Given the description of an element on the screen output the (x, y) to click on. 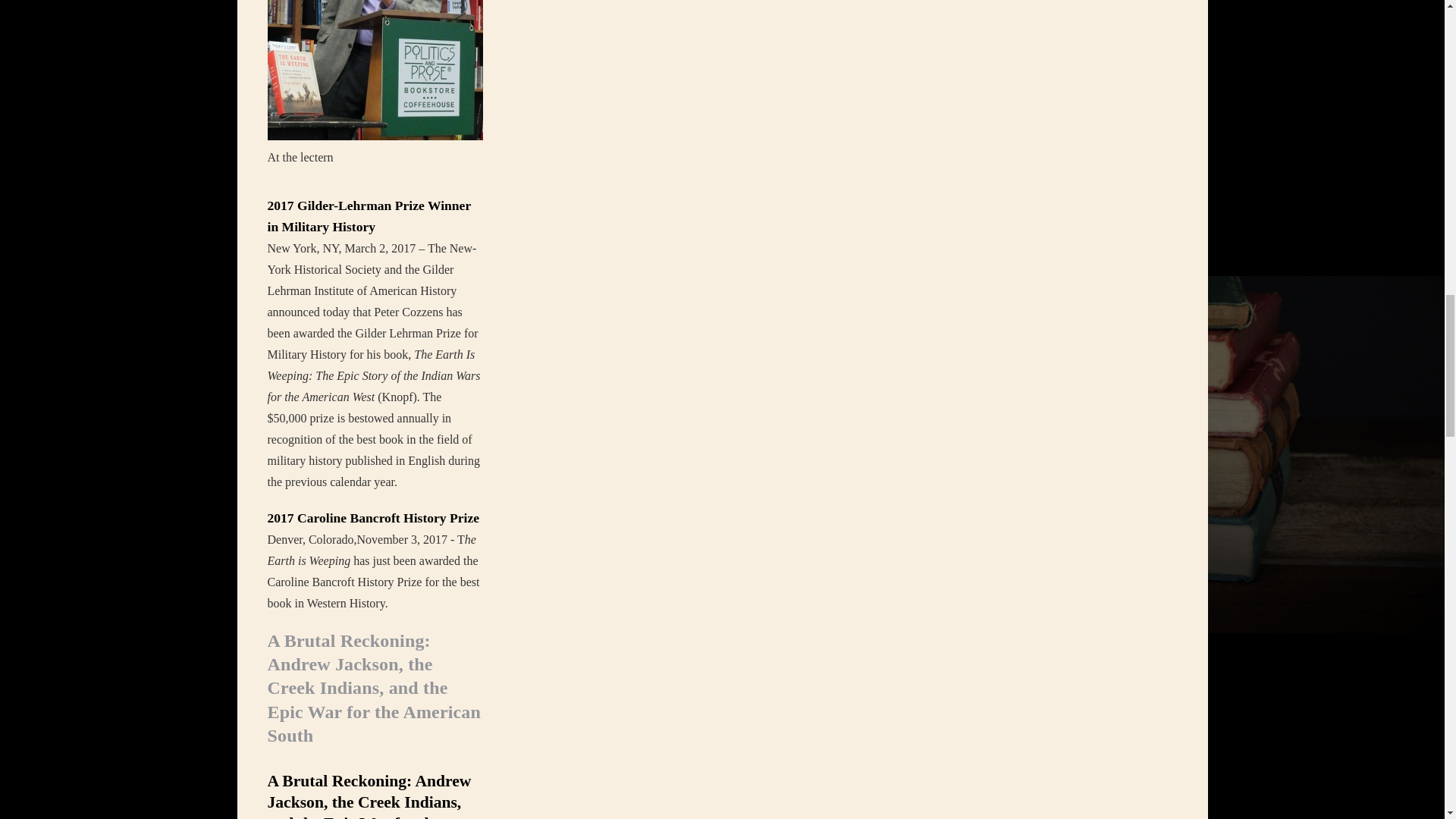
2017 Gilder-Lehrman Prize Winner in Military History (368, 216)
2017 Caroline Bancroft History Prize (372, 517)
